Given the description of an element on the screen output the (x, y) to click on. 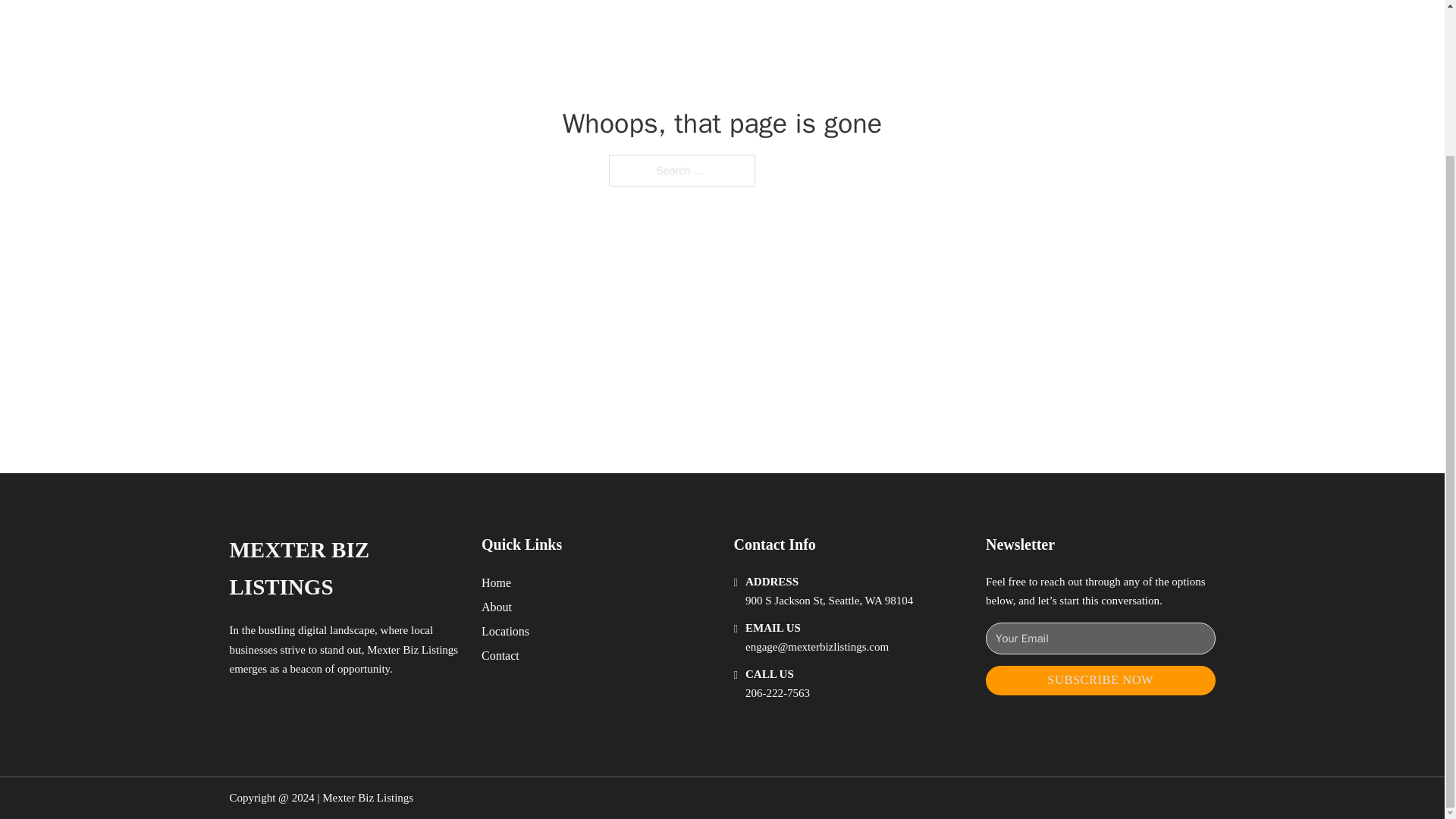
MEXTER BIZ LISTINGS (343, 568)
206-222-7563 (777, 693)
About (496, 607)
Locations (505, 630)
SUBSCRIBE NOW (1100, 680)
Contact (500, 655)
Home (496, 582)
